Given the description of an element on the screen output the (x, y) to click on. 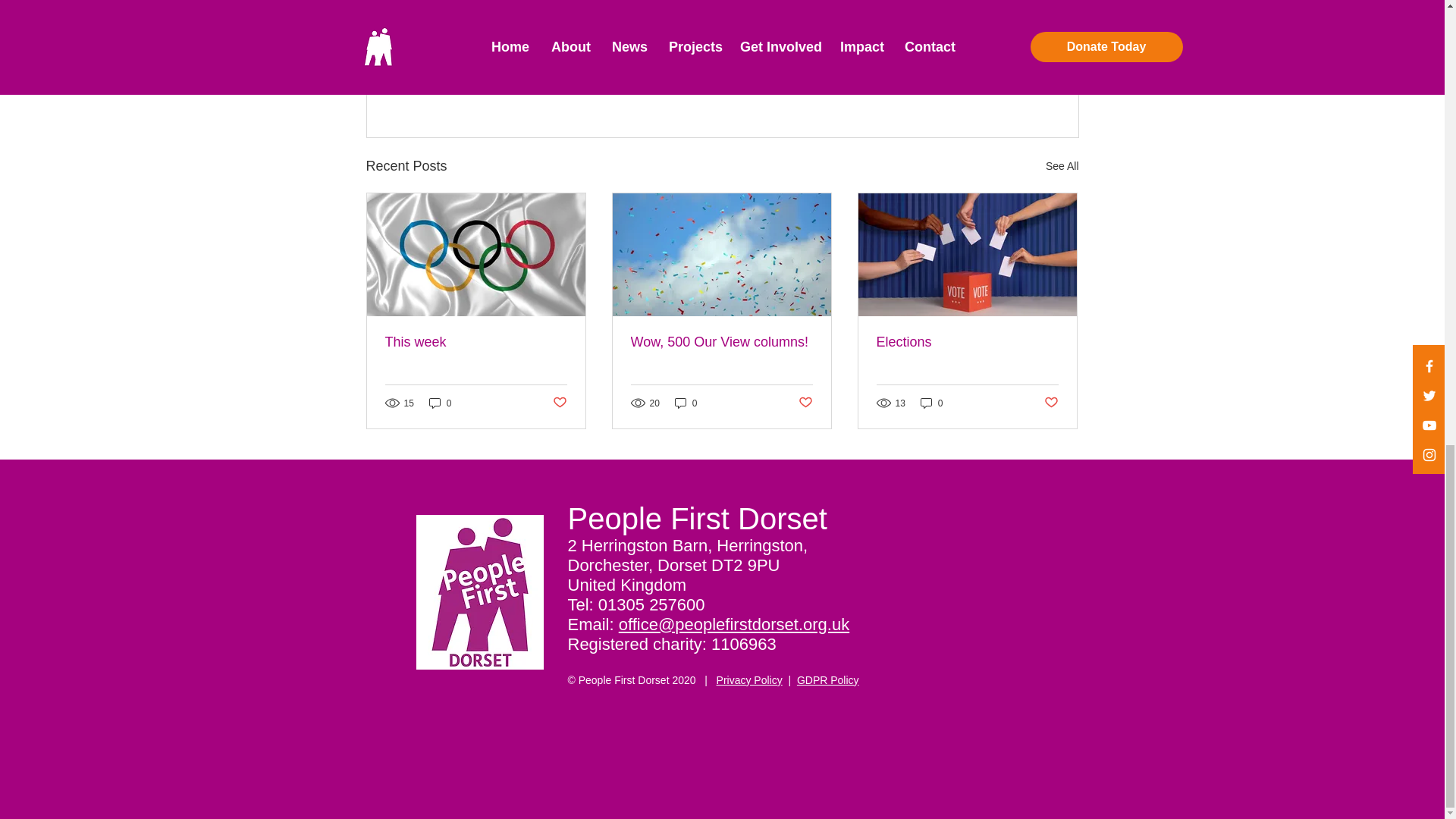
Post not marked as liked (995, 83)
